Given the description of an element on the screen output the (x, y) to click on. 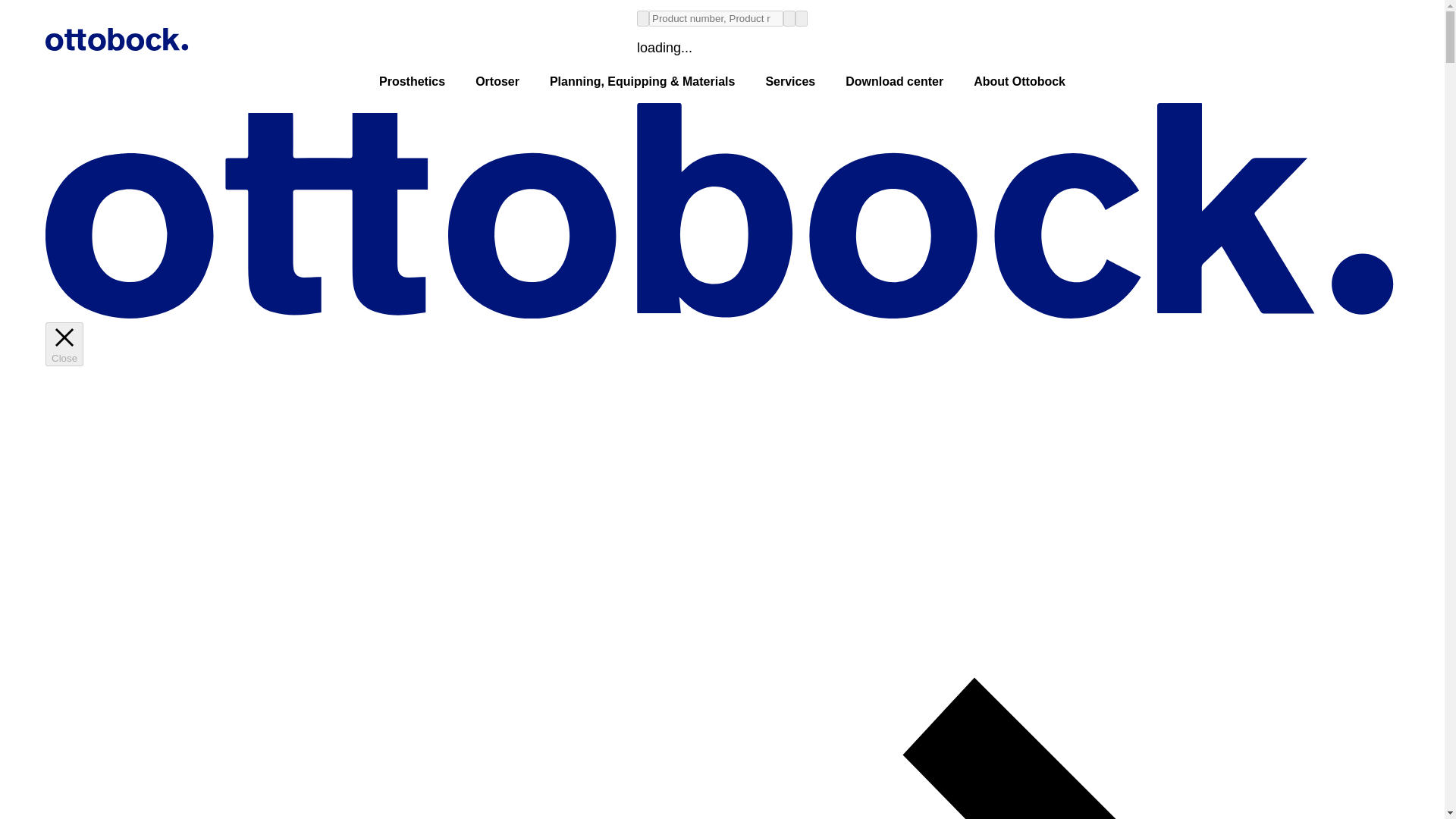
Services (789, 81)
Ortoser (497, 81)
About Ottobock  (1018, 81)
Contact (1353, 782)
Services (789, 81)
Prosthetics (411, 81)
About Ottobock (1018, 81)
Download center (893, 81)
Ortoser (497, 81)
Download Center (893, 81)
